Given the description of an element on the screen output the (x, y) to click on. 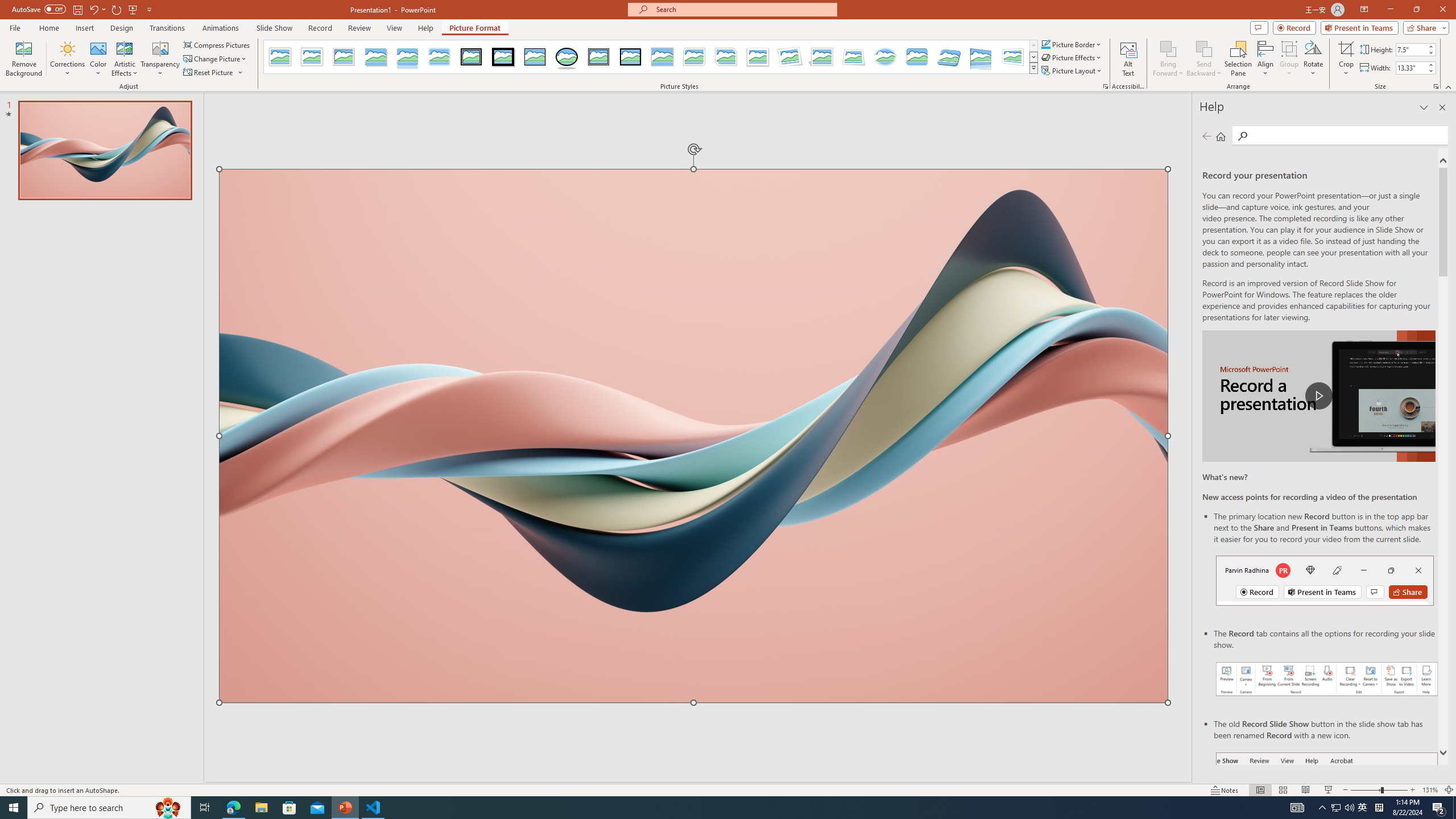
Send Backward (1204, 58)
